Given the description of an element on the screen output the (x, y) to click on. 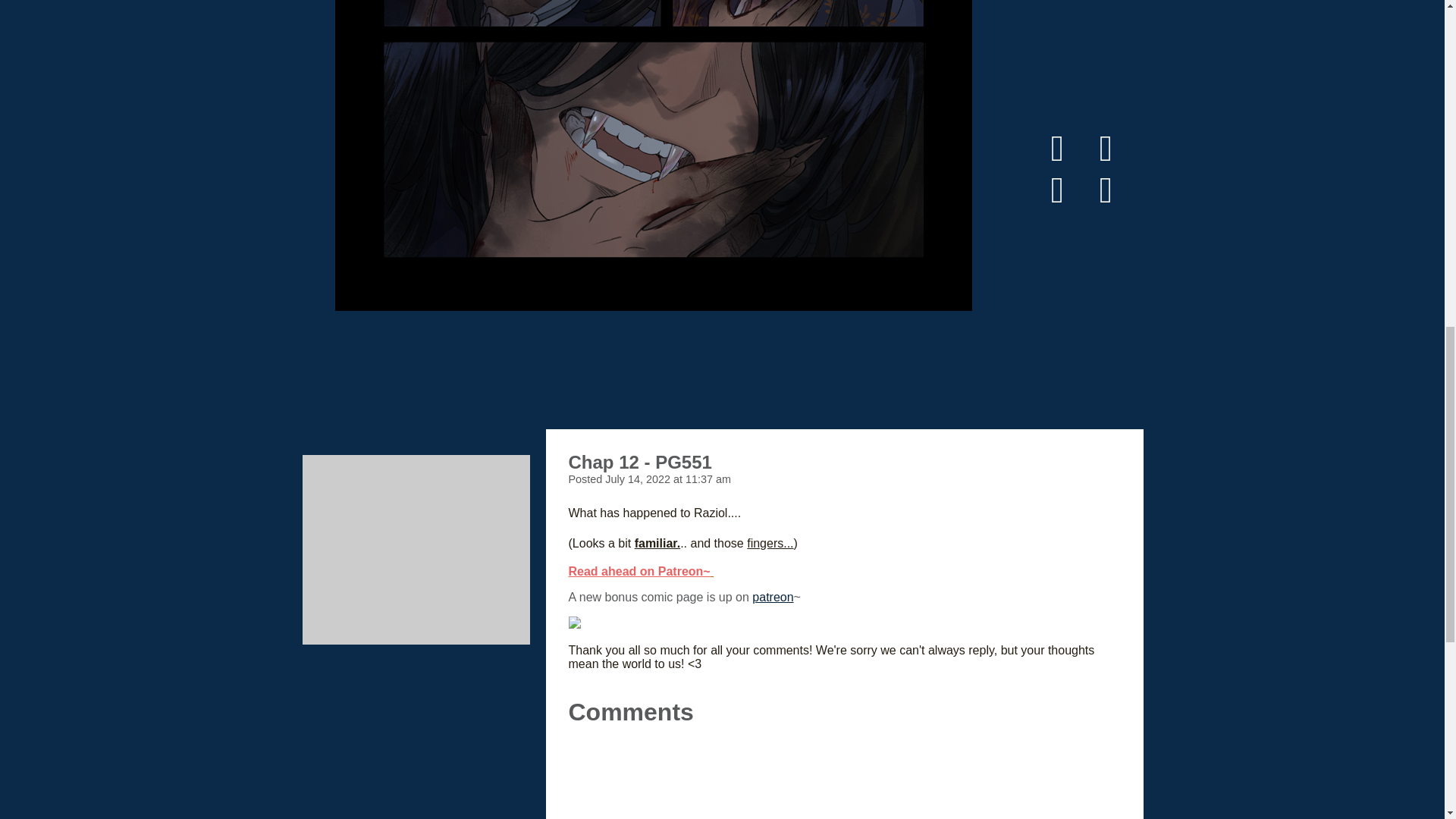
fingers... (769, 543)
familiar. (656, 543)
patreon (772, 596)
